Given the description of an element on the screen output the (x, y) to click on. 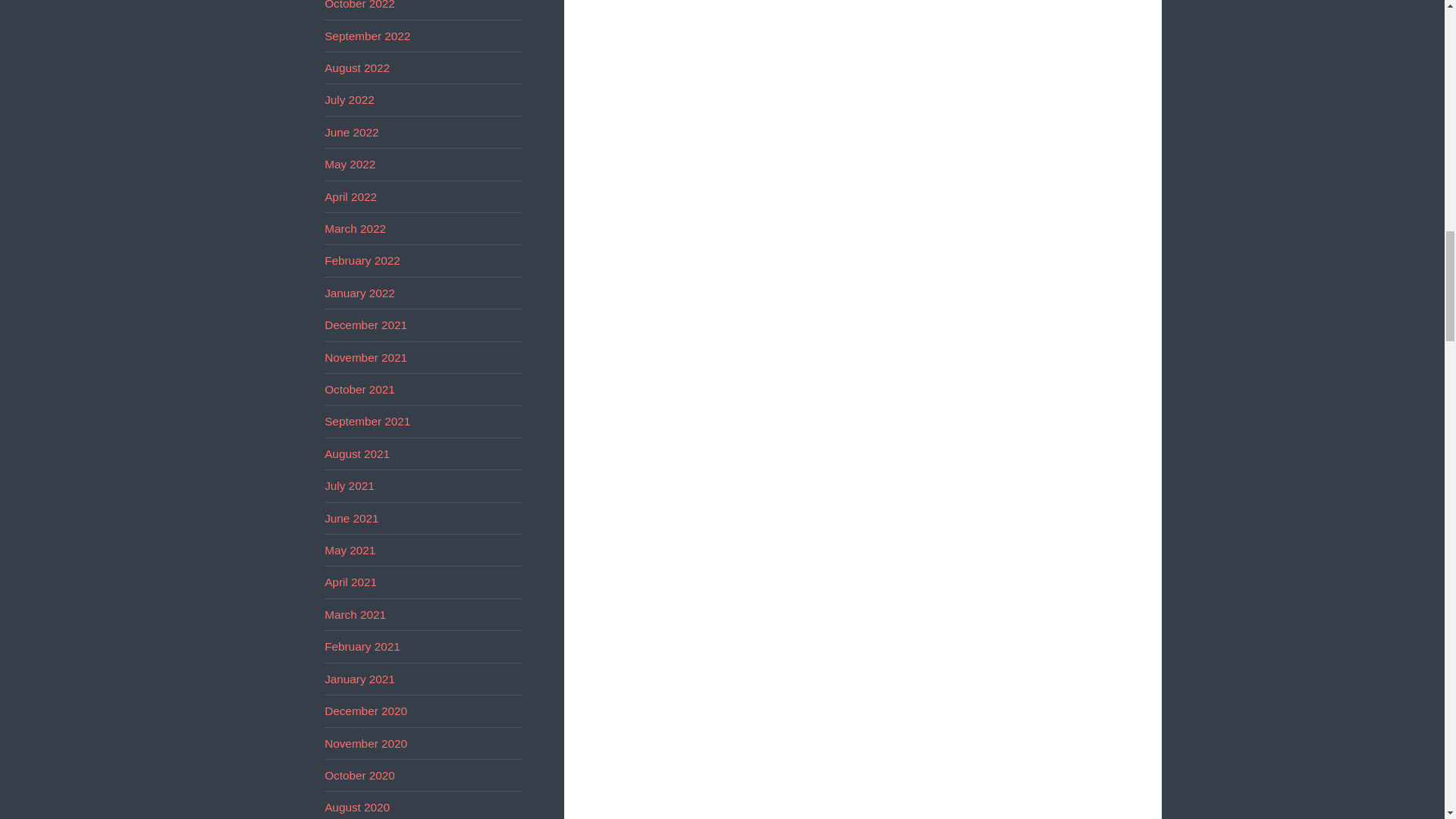
July 2022 (349, 99)
March 2022 (354, 228)
June 2022 (351, 132)
January 2022 (359, 292)
August 2022 (357, 67)
May 2022 (349, 164)
February 2022 (362, 259)
April 2022 (350, 196)
October 2022 (359, 4)
September 2022 (367, 35)
